Given the description of an element on the screen output the (x, y) to click on. 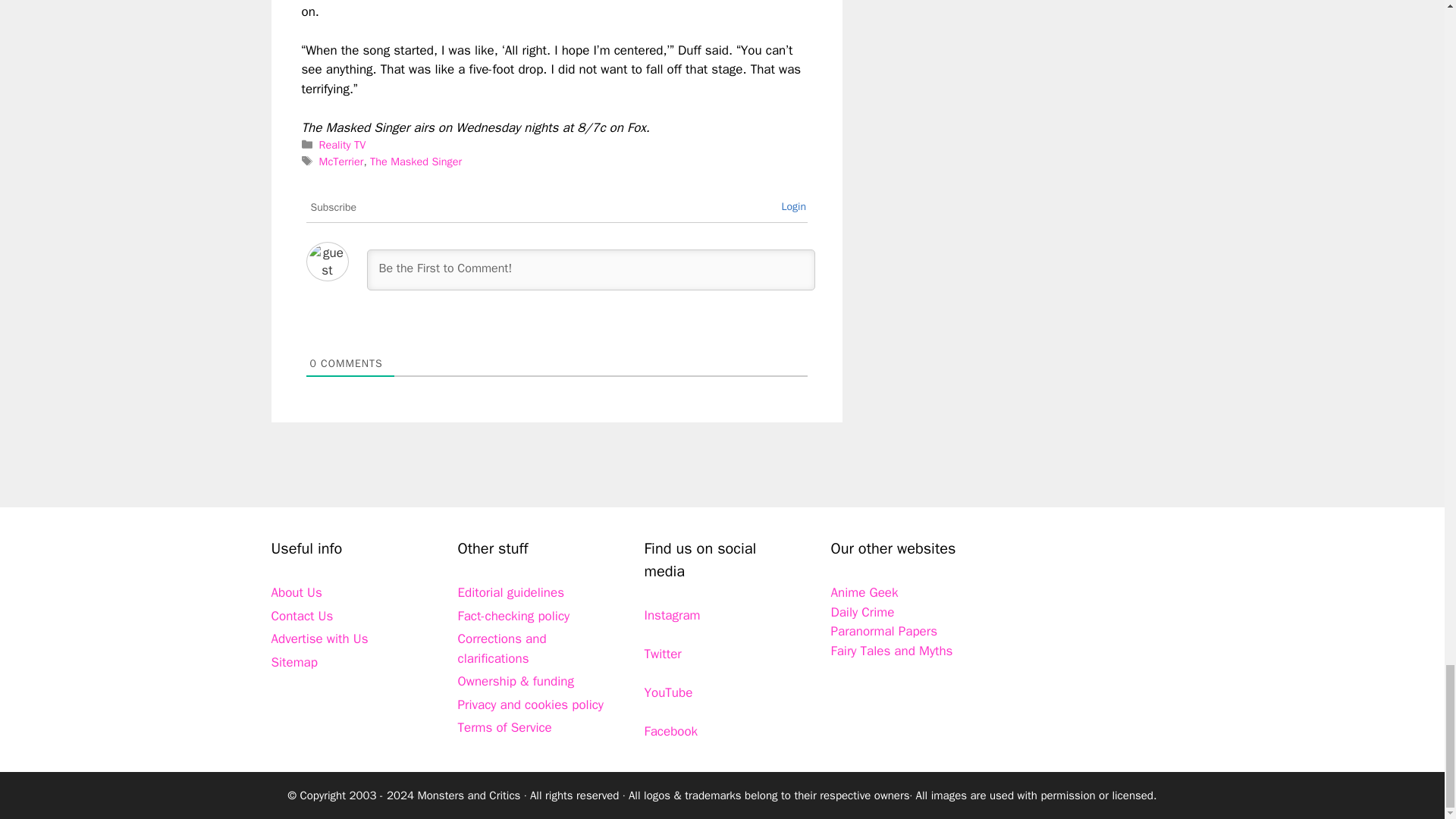
McTerrier (341, 161)
Reality TV (342, 144)
Sitemap (293, 662)
Login (793, 205)
Advertise with Us (319, 638)
Corrections and clarifications (502, 648)
Editorial guidelines (511, 592)
About Us (295, 592)
Contact Us (301, 616)
The Masked Singer (415, 161)
